Given the description of an element on the screen output the (x, y) to click on. 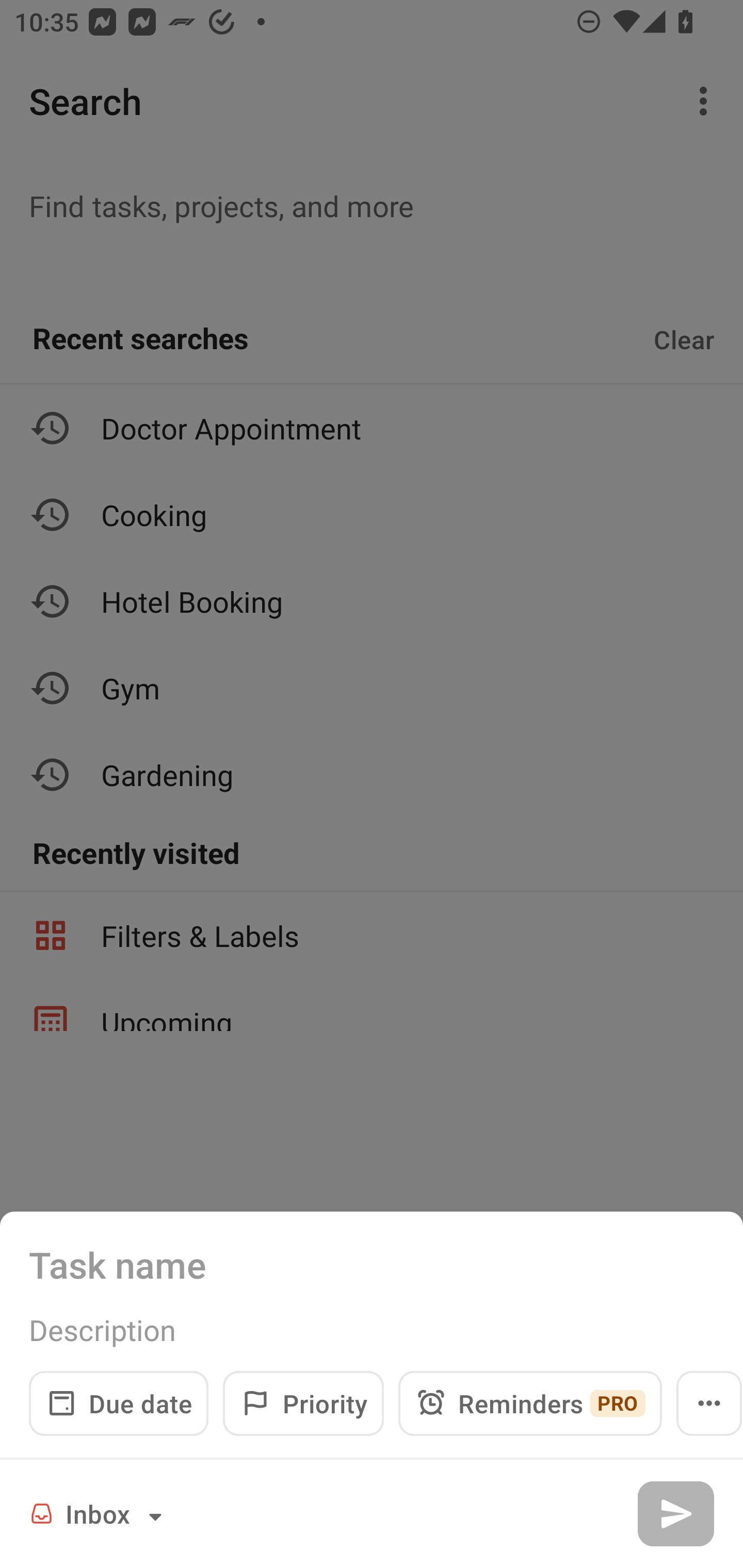
Task name (371, 1264)
Description (371, 1330)
Due date Date (118, 1403)
Priority (303, 1403)
Reminders PRO Reminders (530, 1403)
Open menu (709, 1403)
Inbox Project (99, 1513)
Add (675, 1513)
